Given the description of an element on the screen output the (x, y) to click on. 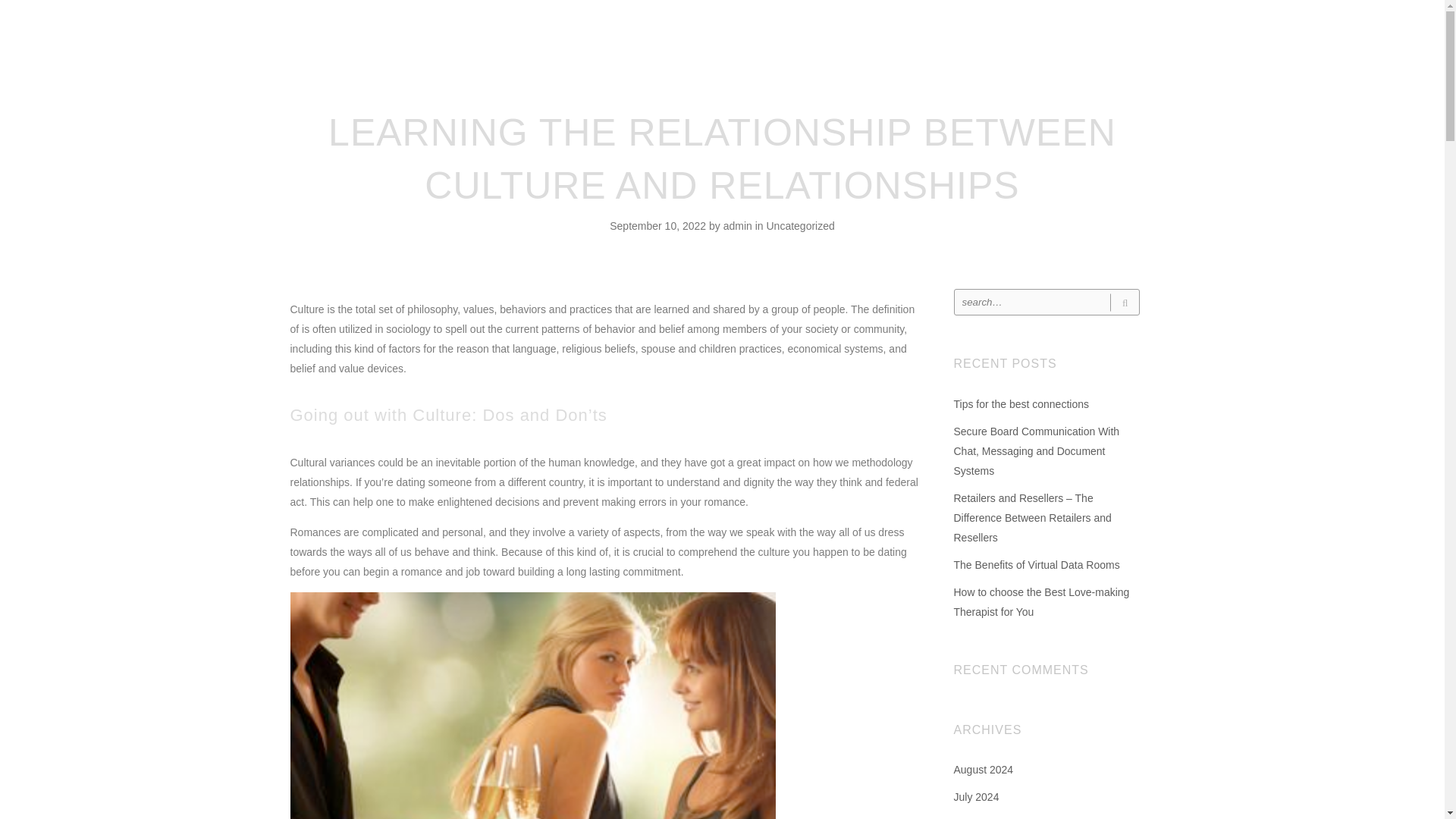
Search (1123, 302)
How to choose the Best Love-making Therapist for You (1041, 602)
Tips for the best connections (1021, 404)
admin (739, 225)
The Benefits of Virtual Data Rooms (1036, 564)
THE HIDDEN STUDIO (728, 33)
Uncategorized (799, 225)
